Given the description of an element on the screen output the (x, y) to click on. 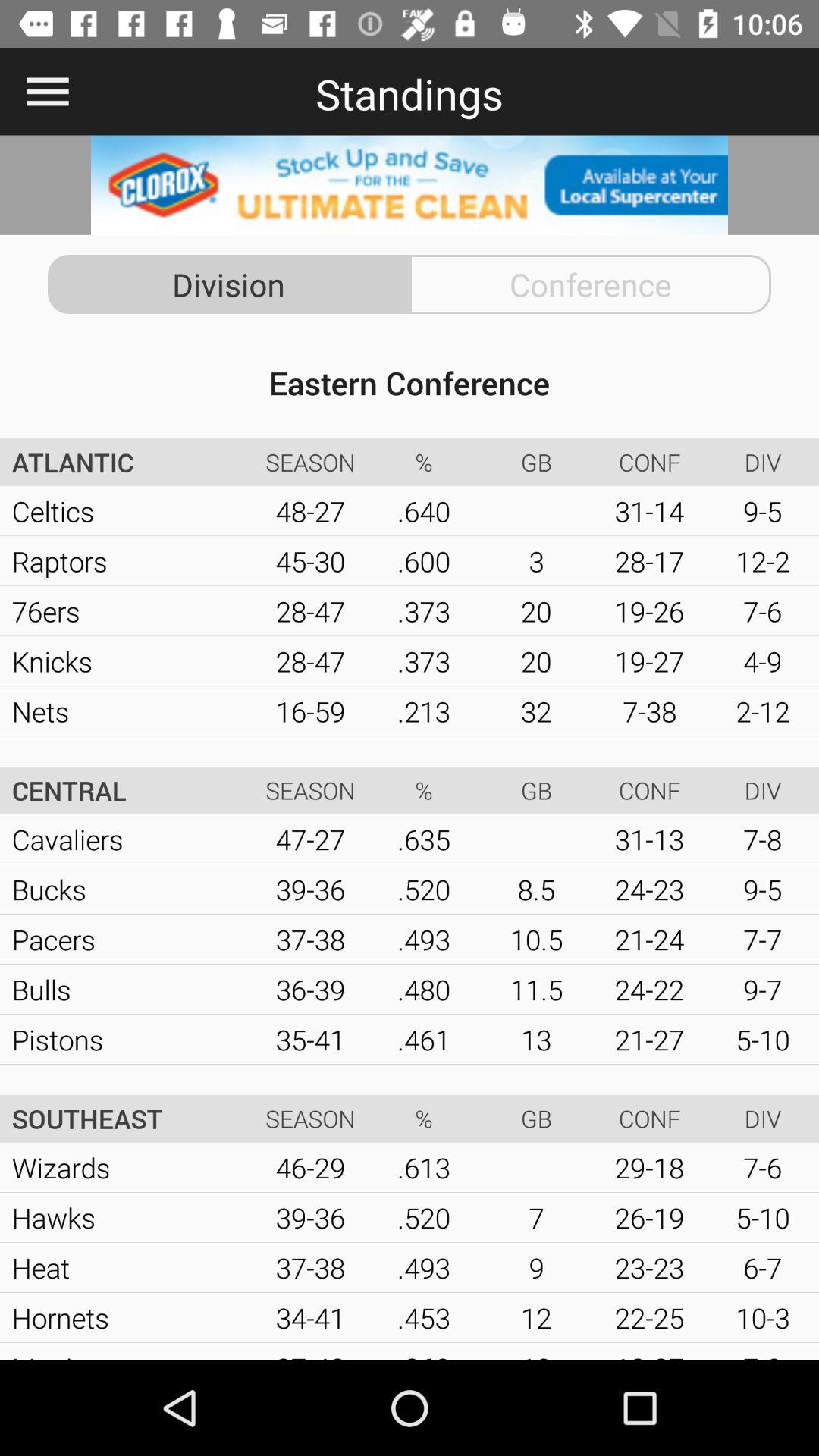
advertisement link (409, 184)
